Given the description of an element on the screen output the (x, y) to click on. 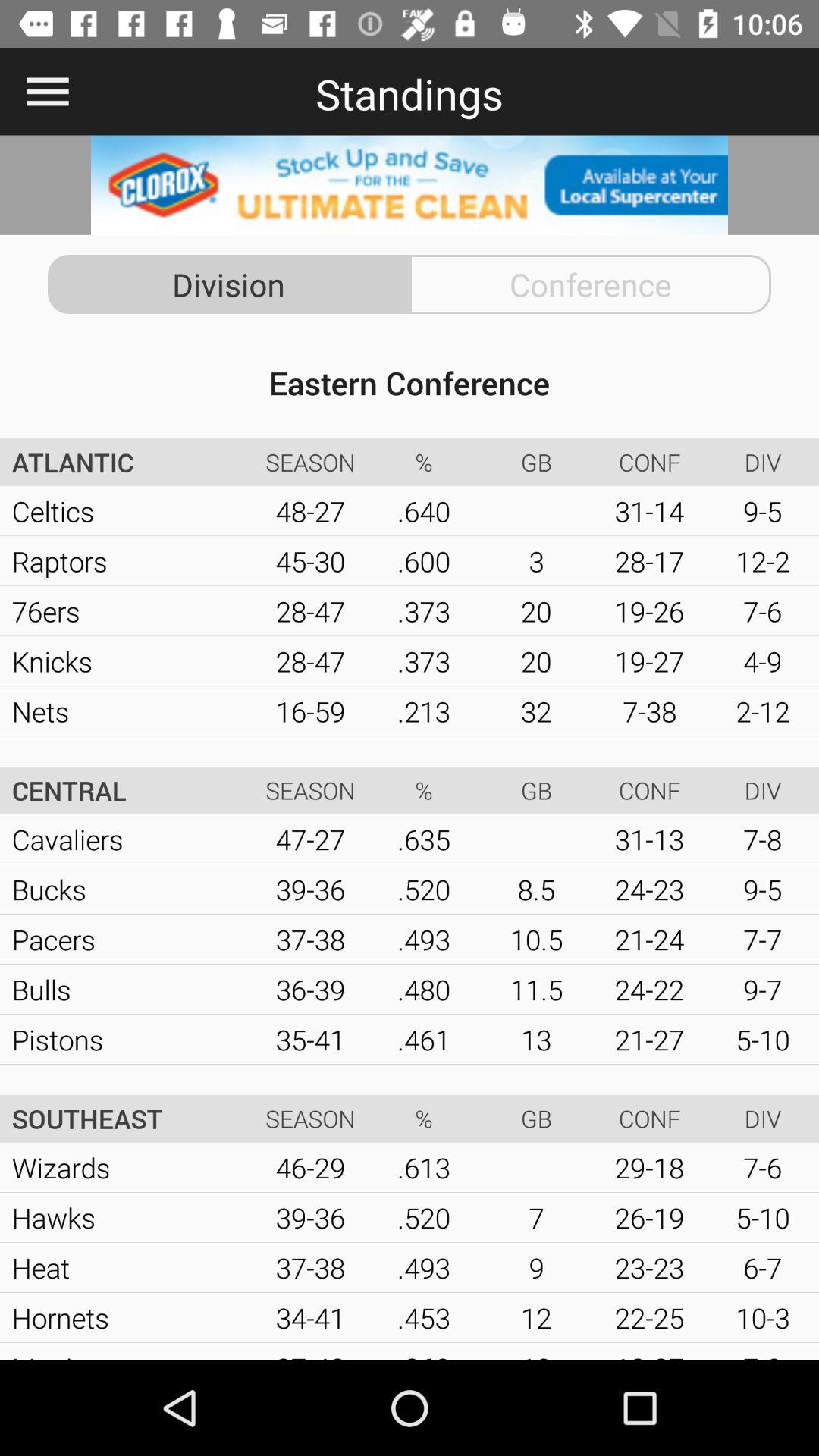
advertisement link (409, 184)
